Given the description of an element on the screen output the (x, y) to click on. 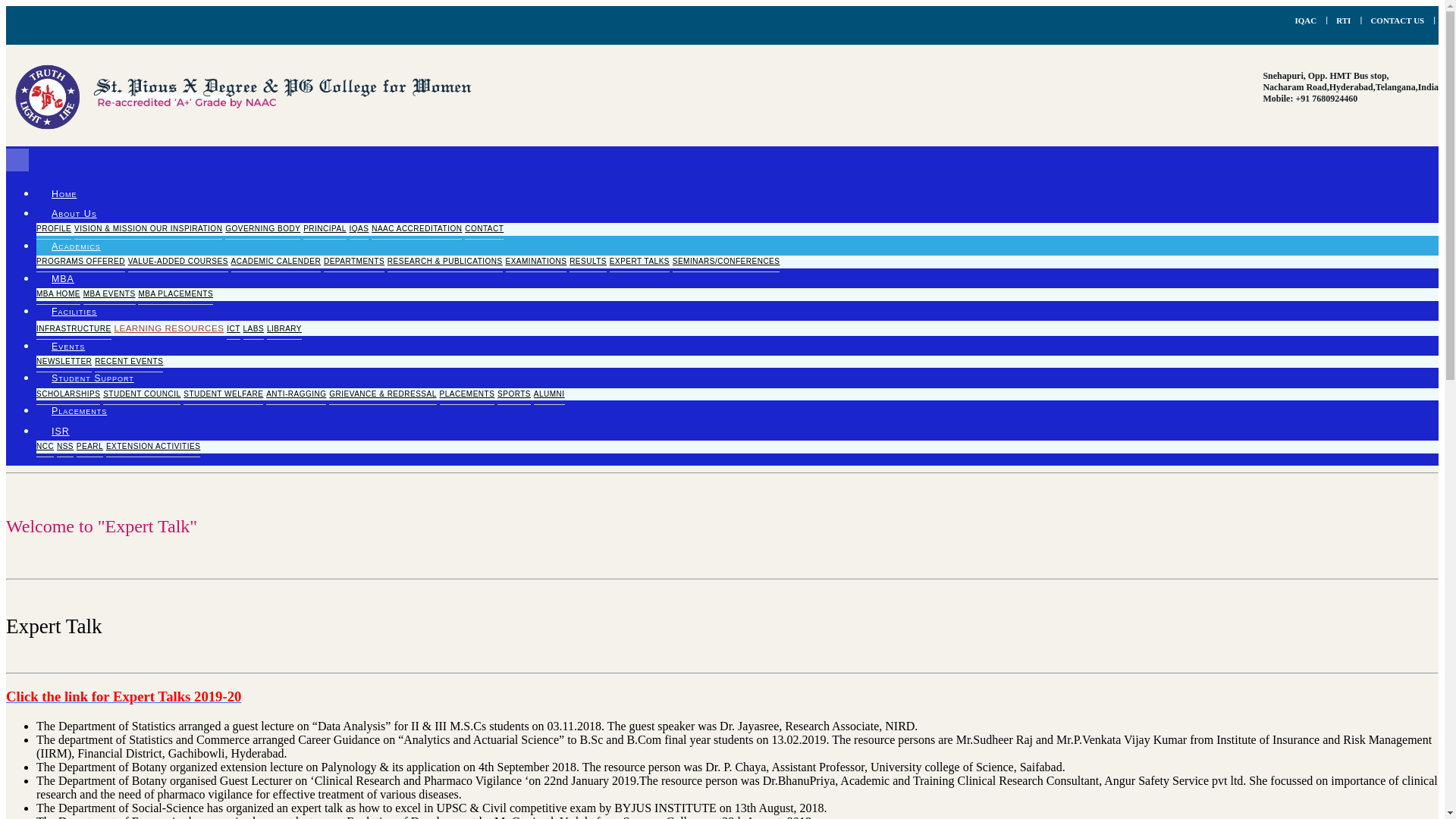
VALUE-ADDED COURSES (178, 260)
Facilities (74, 311)
About Us (74, 213)
MBA HOME (58, 293)
CONTACT (483, 228)
IQAC (1305, 20)
ACADEMIC CALENDER (276, 260)
Home (63, 193)
RTI (1343, 20)
MBA (62, 278)
DEPARTMENTS (353, 260)
INFRASTRUCTURE (74, 328)
NAAC ACCREDITATION (416, 228)
MBA PLACEMENTS (175, 293)
Academics (76, 246)
